Given the description of an element on the screen output the (x, y) to click on. 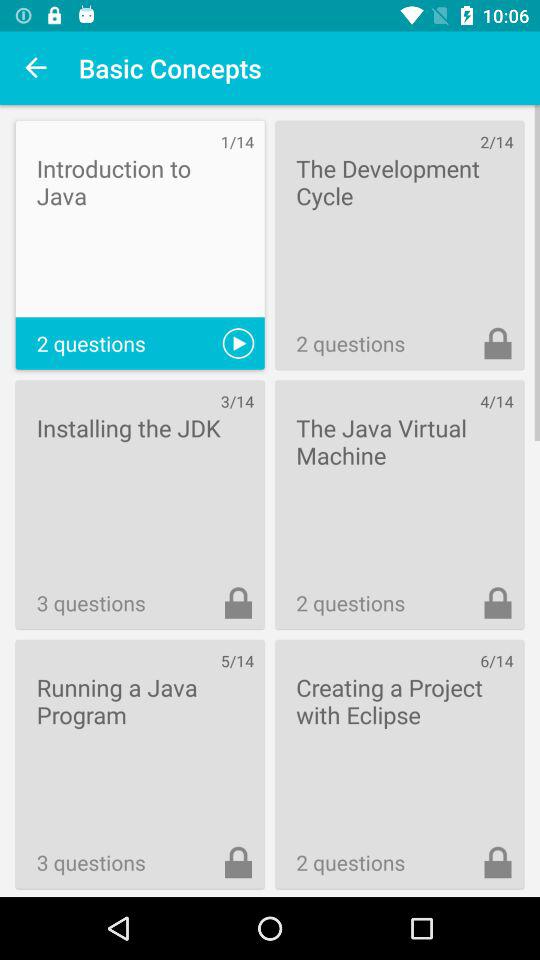
turn on icon next to basic concepts (36, 68)
